Given the description of an element on the screen output the (x, y) to click on. 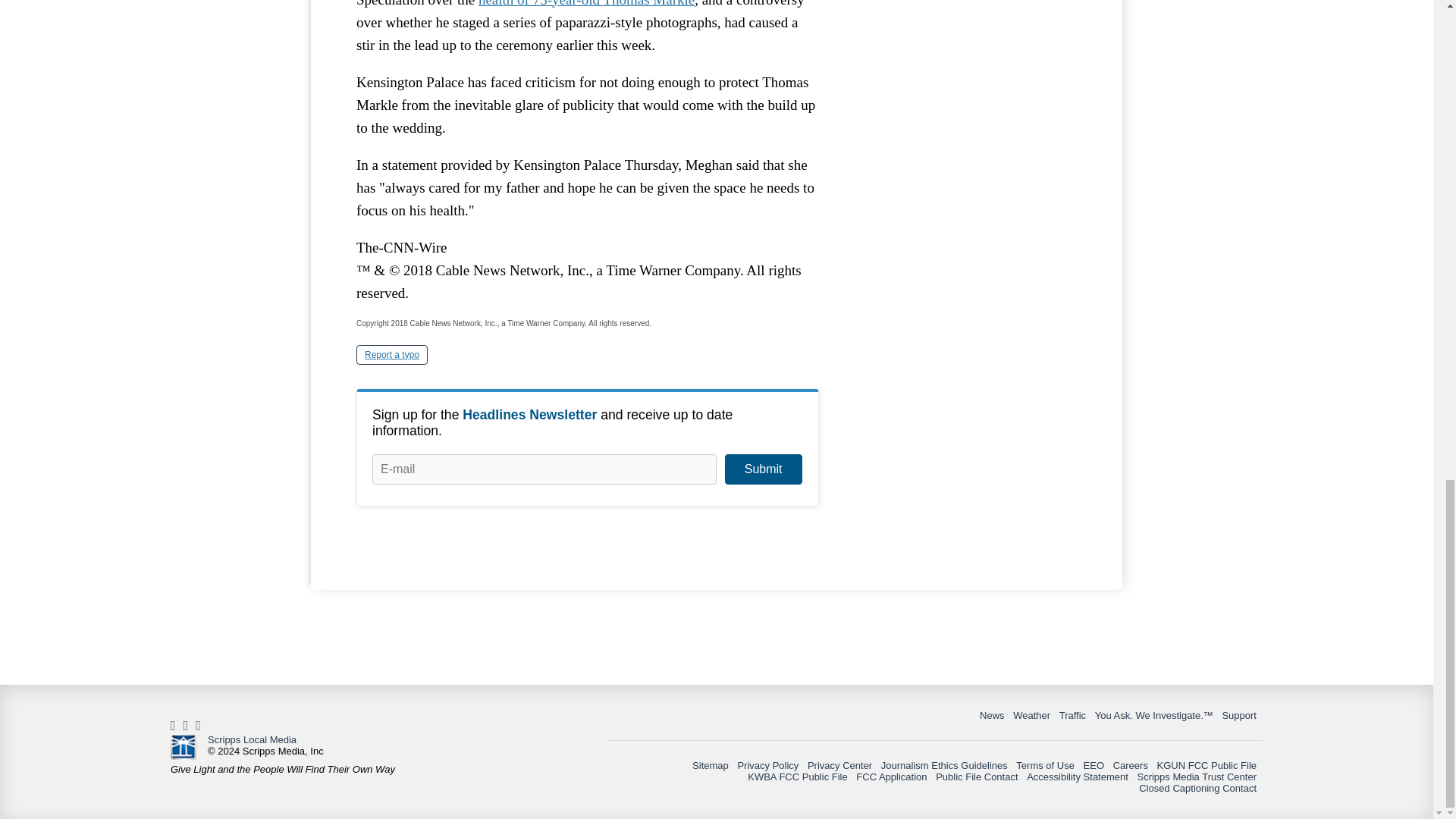
Submit (763, 469)
